Given the description of an element on the screen output the (x, y) to click on. 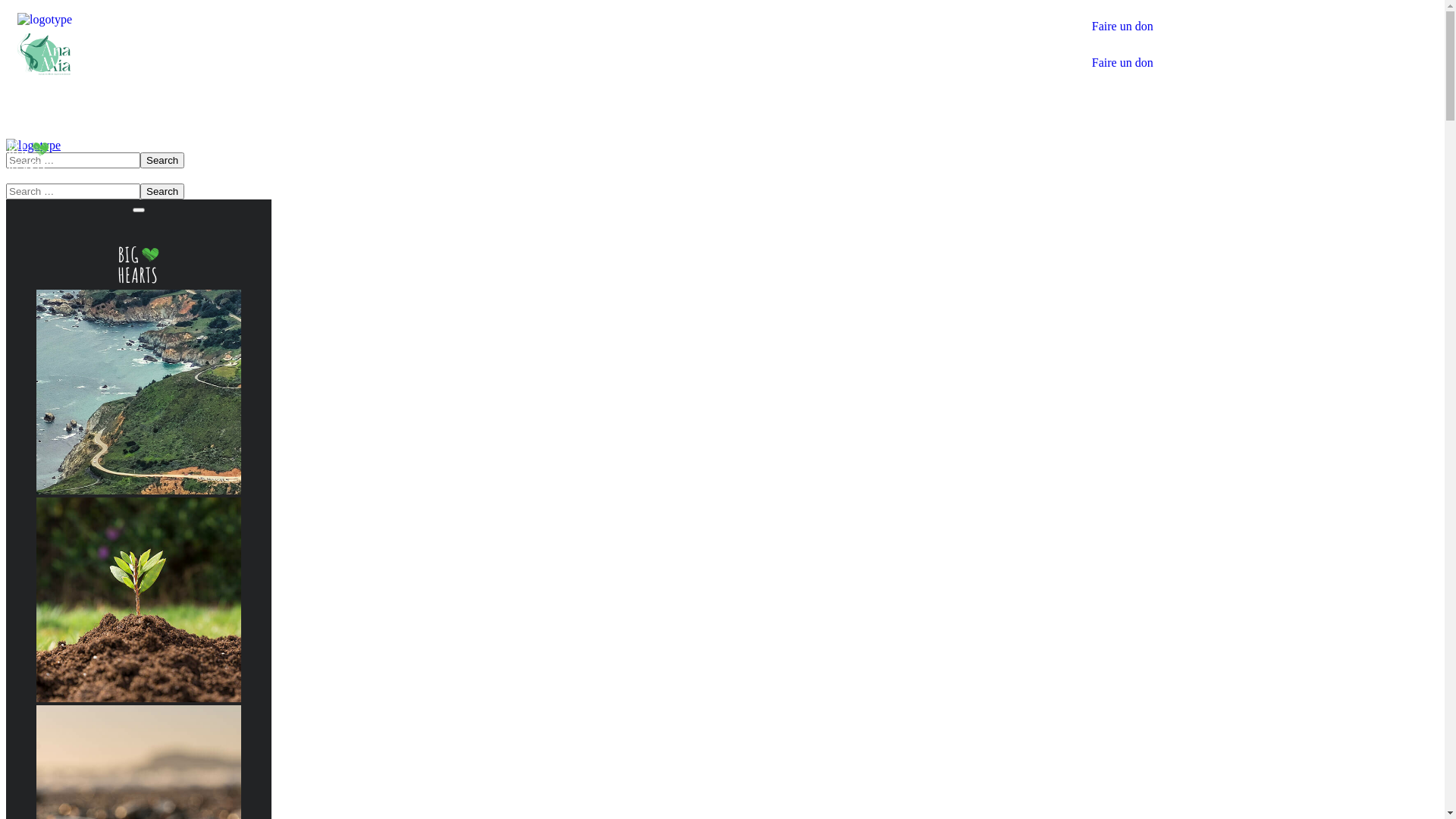
Faire un don Element type: text (1259, 19)
Search Element type: text (162, 160)
Faire un don Element type: text (1259, 55)
Search Element type: text (162, 191)
